Given the description of an element on the screen output the (x, y) to click on. 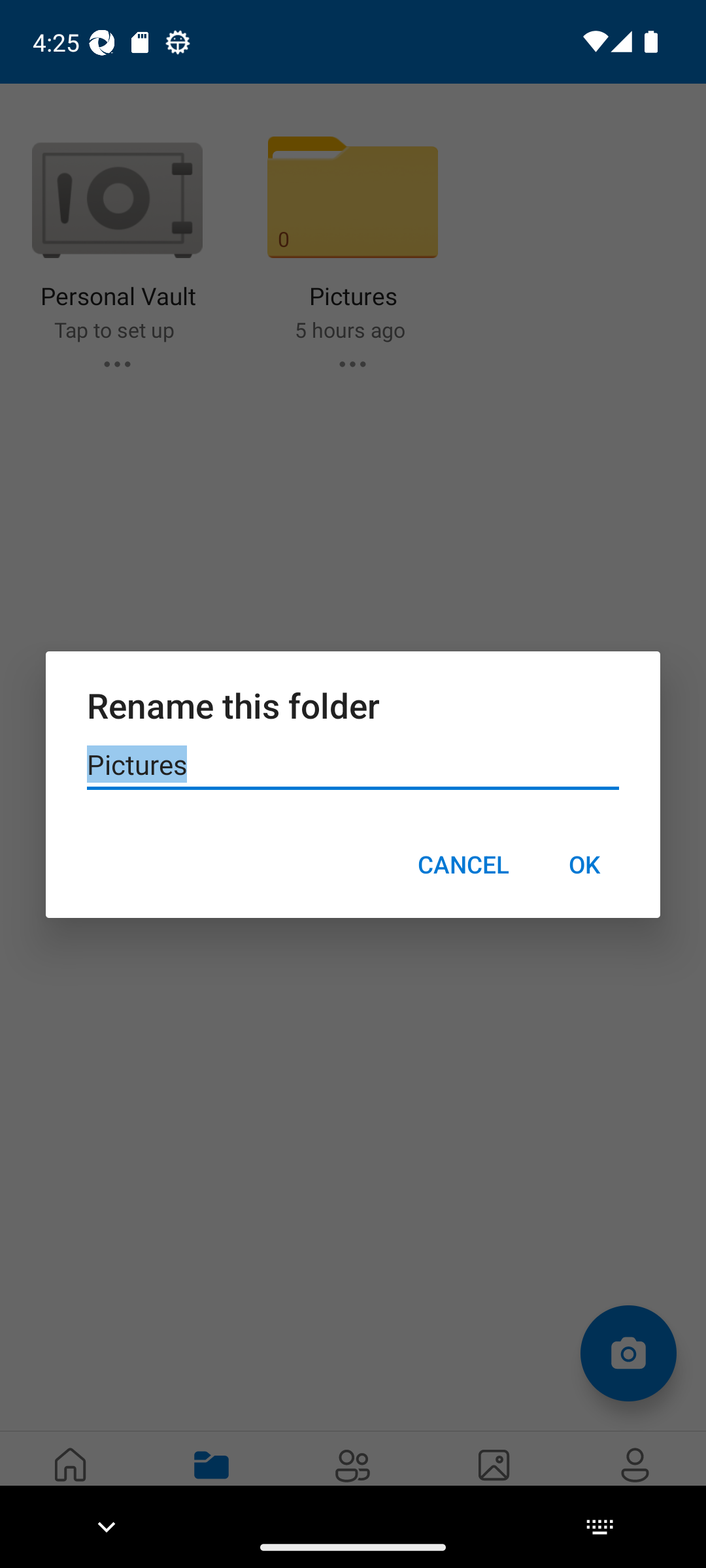
Pictures (352, 765)
CANCEL (463, 864)
OK (584, 864)
